Given the description of an element on the screen output the (x, y) to click on. 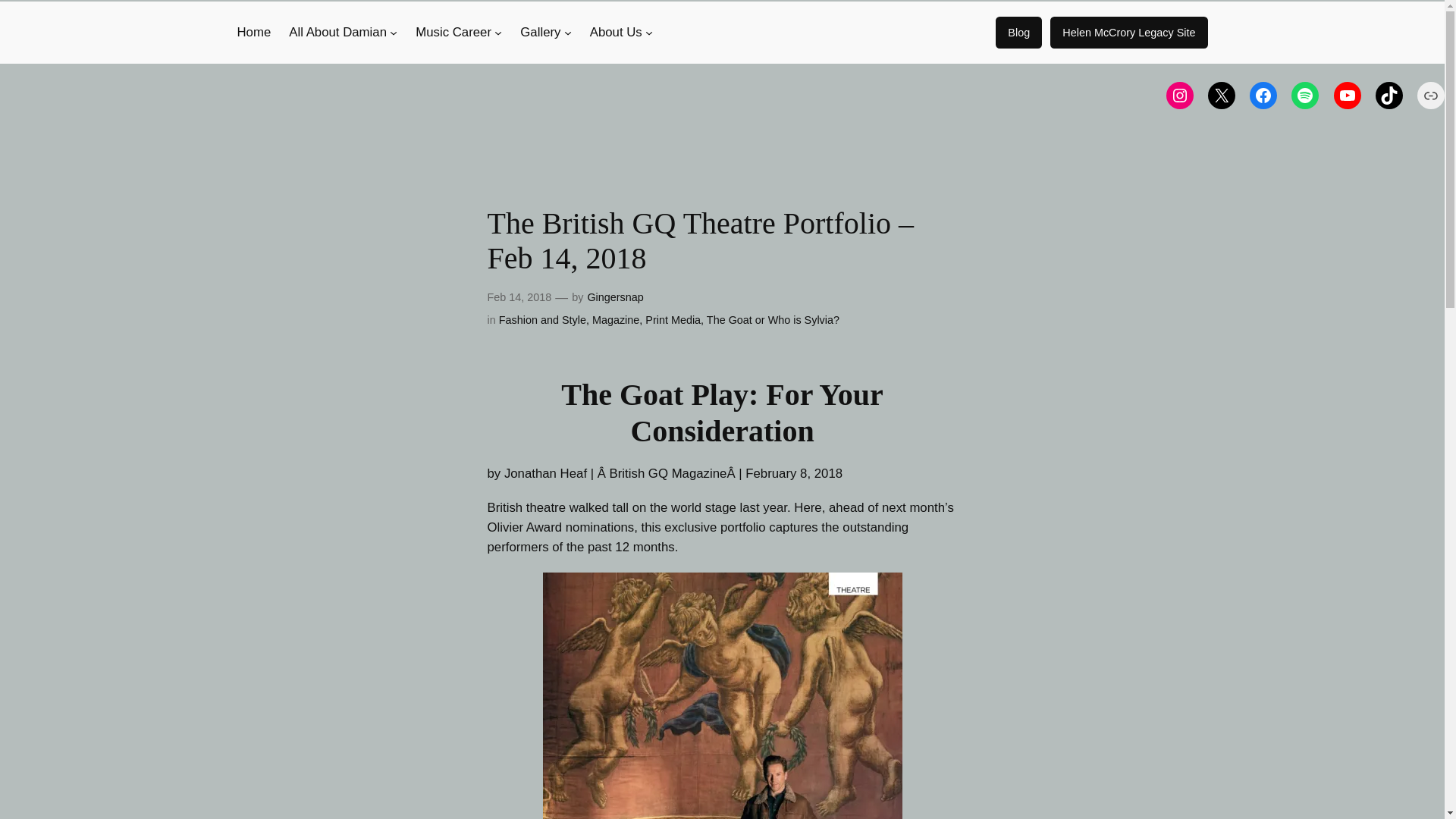
Gallery (539, 32)
About Us (615, 32)
Music Career (453, 32)
Home (252, 32)
All About Damian (337, 32)
